Given the description of an element on the screen output the (x, y) to click on. 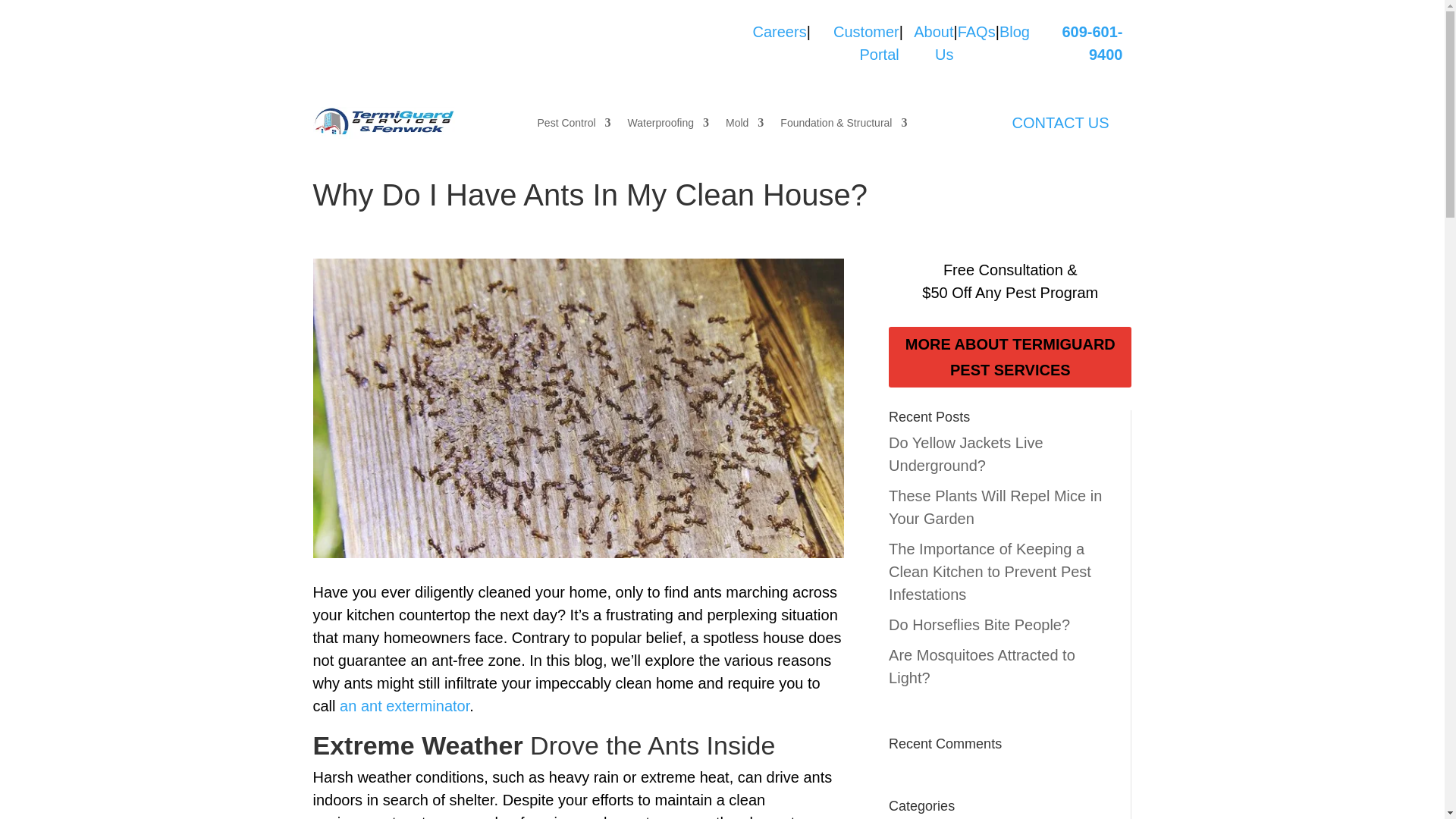
Careers (779, 43)
Mold (743, 125)
an ant exterminator (403, 705)
About Us (927, 43)
Waterproofing (668, 125)
Customer Portal (854, 43)
Pest Control (574, 125)
609-601-9400 (1091, 43)
CONTACT US (1059, 122)
